Given the description of an element on the screen output the (x, y) to click on. 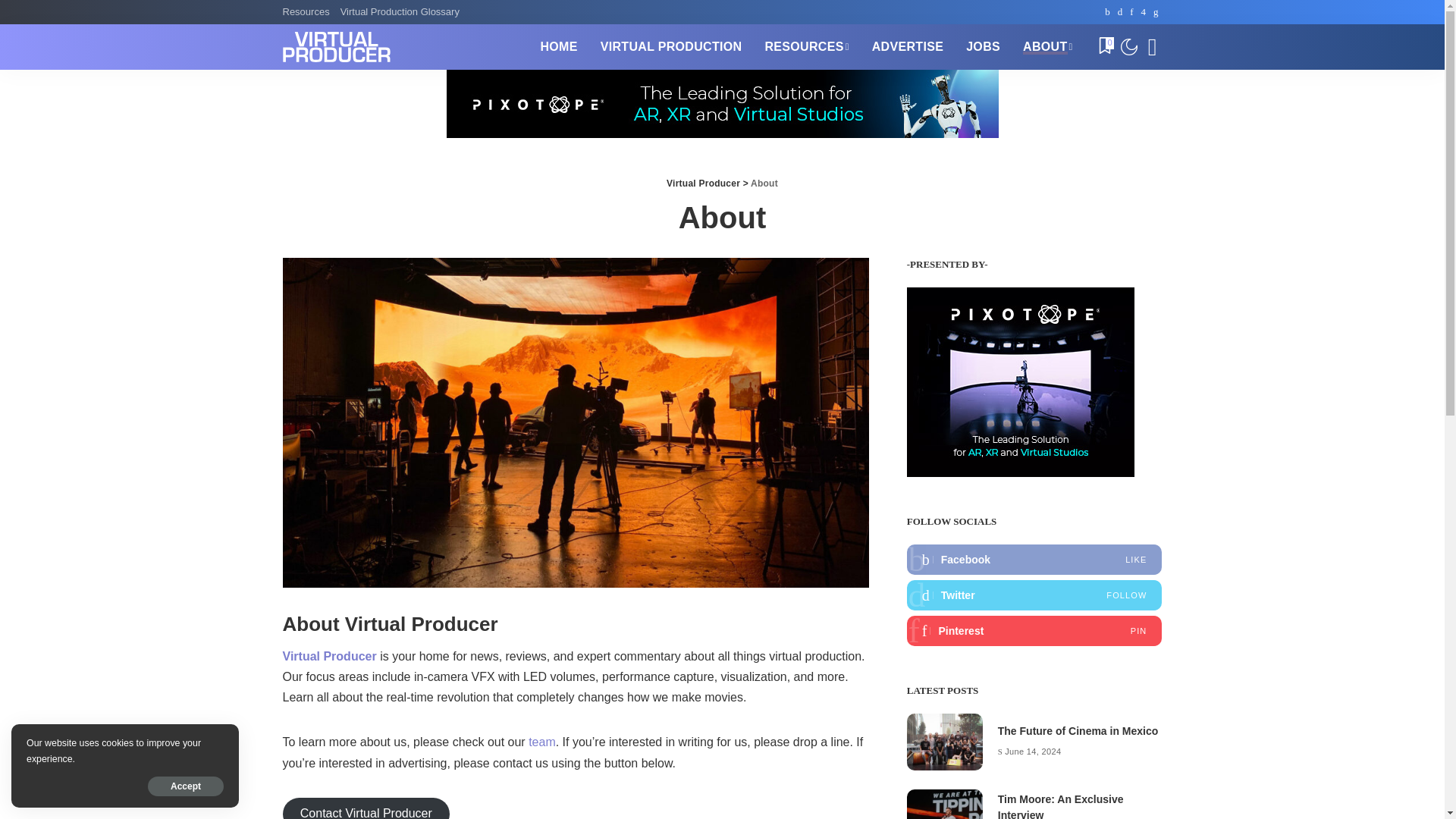
VIRTUAL PRODUCTION (671, 46)
Virtual Producer (336, 46)
Resources (308, 11)
HOME (558, 46)
Virtual Production Glossary (399, 11)
